Given the description of an element on the screen output the (x, y) to click on. 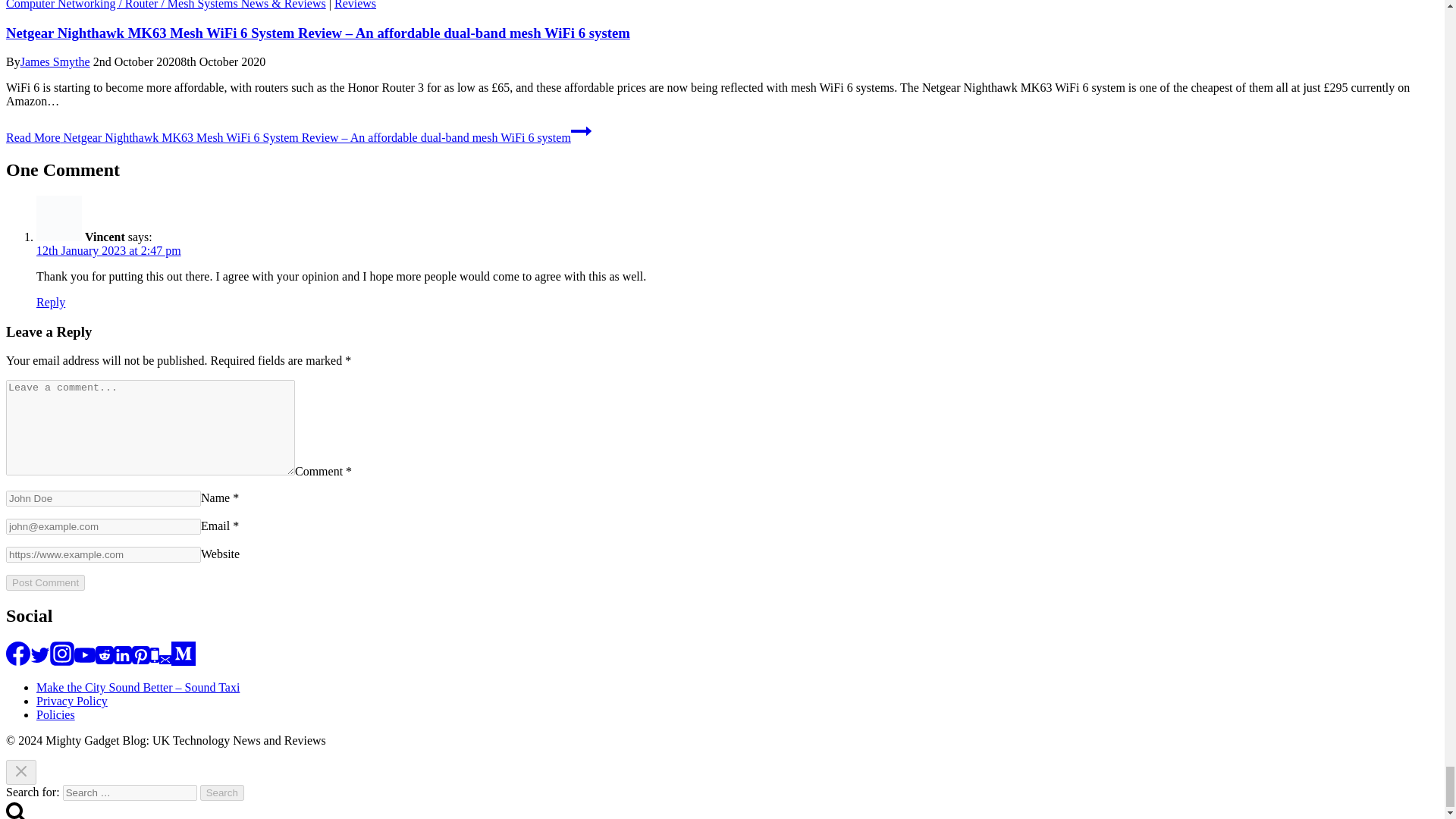
Facebook (17, 653)
Twitter (39, 654)
Post Comment (44, 582)
YouTube (85, 654)
Instagram (61, 653)
Continue (580, 130)
Search (222, 792)
Search (222, 792)
